Given the description of an element on the screen output the (x, y) to click on. 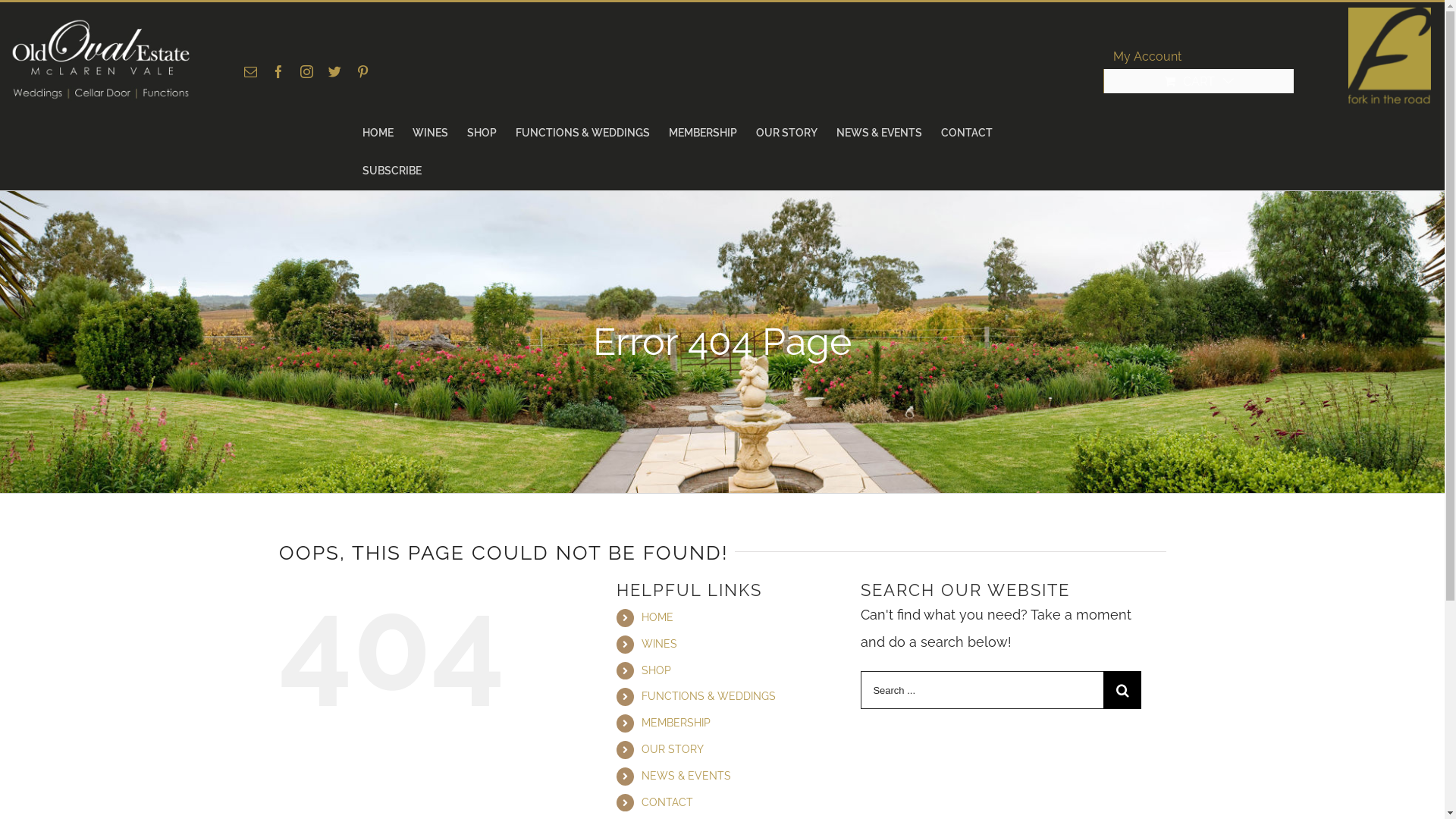
MEMBERSHIP Element type: text (702, 132)
HOME Element type: text (377, 132)
WINES Element type: text (430, 132)
SUBSCRIBE Element type: text (391, 170)
NEWS & EVENTS Element type: text (686, 775)
Instagram Element type: text (306, 71)
FUNCTIONS & WEDDINGS Element type: text (708, 696)
WINES Element type: text (659, 643)
OUR STORY Element type: text (672, 749)
HOME Element type: text (657, 617)
OUR STORY Element type: text (785, 132)
Facebook Element type: text (278, 71)
CONTACT Element type: text (965, 132)
Pinterest Element type: text (362, 71)
Twitter Element type: text (334, 71)
CONTACT Element type: text (667, 802)
FUNCTIONS & WEDDINGS Element type: text (582, 132)
CART Element type: text (1198, 81)
NEWS & EVENTS Element type: text (878, 132)
SHOP Element type: text (481, 132)
SHOP Element type: text (656, 670)
Log In Element type: text (1144, 212)
My Account Element type: text (1147, 56)
MEMBERSHIP Element type: text (675, 722)
Email Element type: text (250, 71)
